Given the description of an element on the screen output the (x, y) to click on. 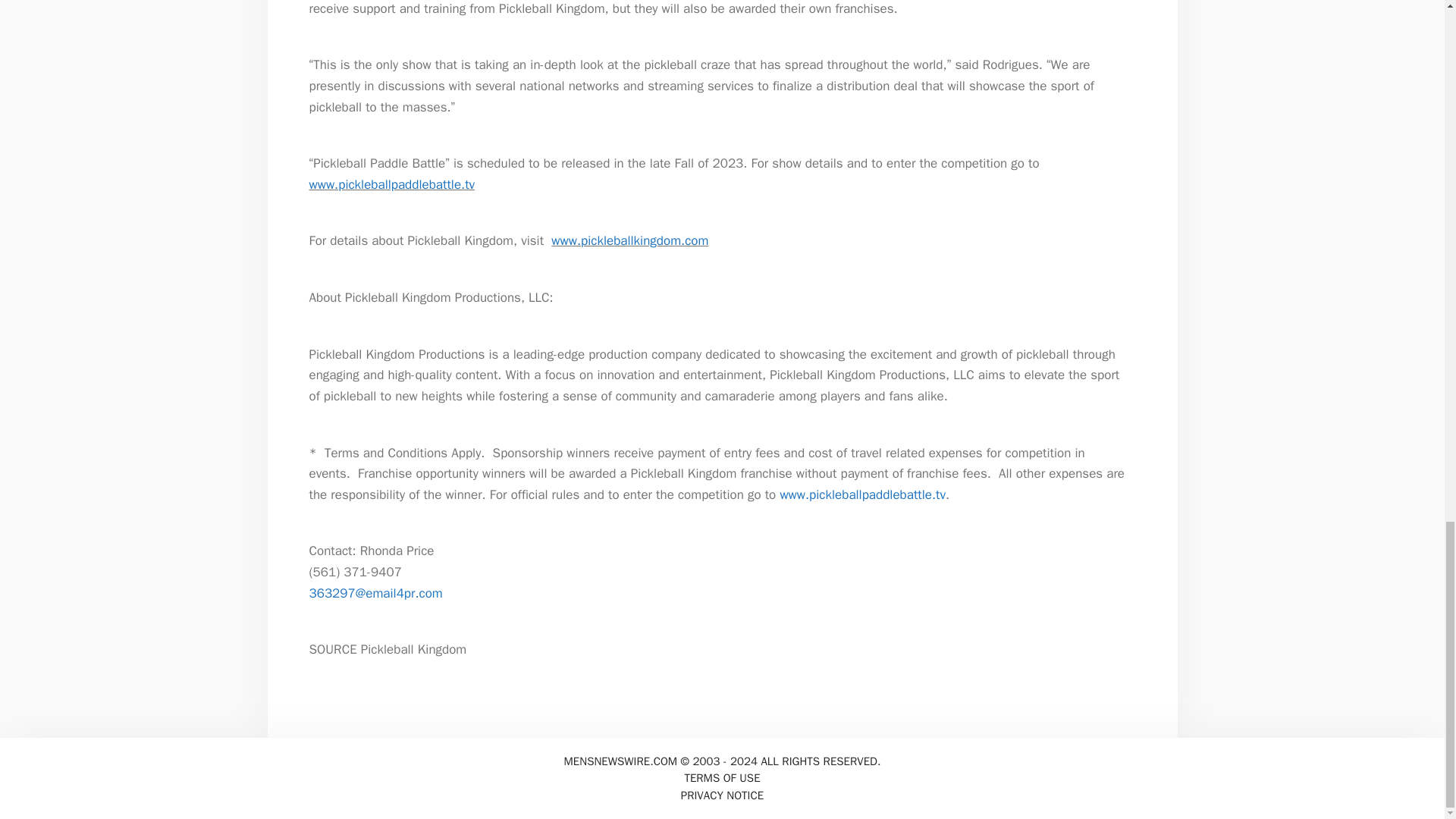
PRIVACY NOTICE (721, 795)
TERMS OF USE (722, 777)
www.pickleballpaddlebattle.tv (392, 184)
www.pickleballkingdom.com (629, 240)
www.pickleballpaddlebattle.tv (861, 494)
